Given the description of an element on the screen output the (x, y) to click on. 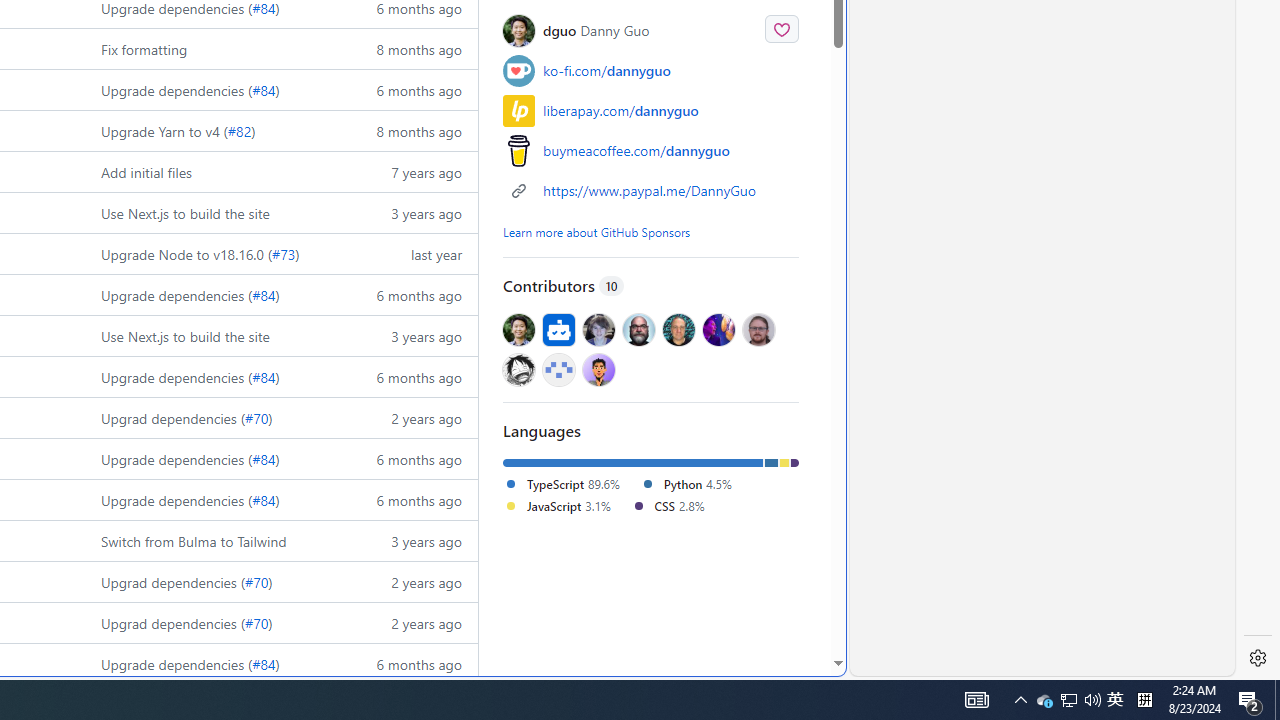
@coderberry (639, 329)
JavaScript 3.1% (556, 505)
last year (409, 253)
3 years ago (409, 539)
Upgrade dependencies ( (177, 663)
@aranciokov (758, 329)
Upgrade Yarn to v4 (#82) (212, 130)
@dependabot[bot] (558, 329)
@dguo (519, 329)
TypeScript89.6% (571, 484)
Upgrad dependencies (#70) (212, 621)
6 months ago (409, 663)
Python4.5% (692, 484)
8 months ago (409, 130)
